Given the description of an element on the screen output the (x, y) to click on. 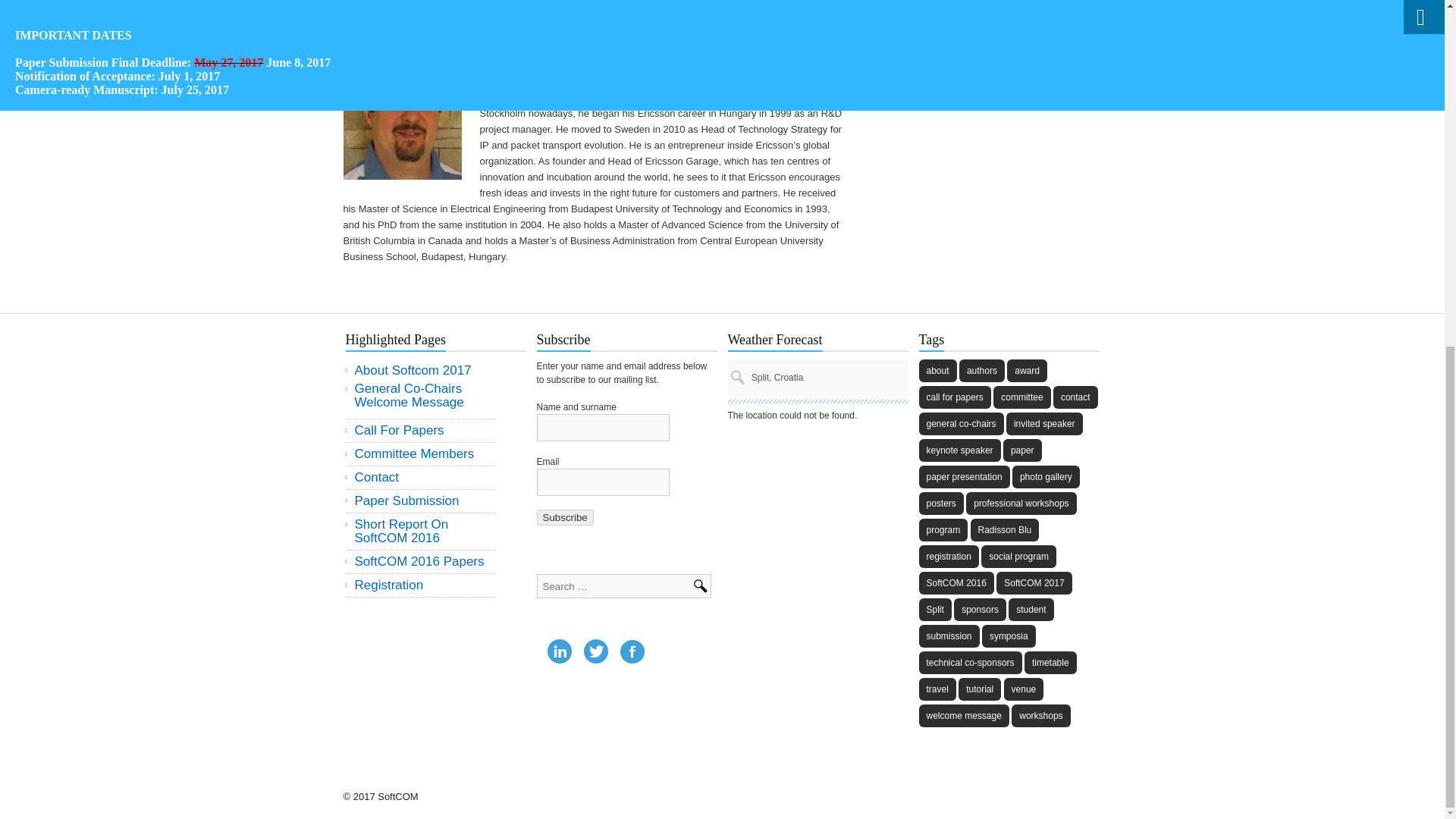
5 topics (1022, 449)
authors (981, 370)
About Softcom 2017 (421, 370)
Short Report On SoftCOM 2016 (421, 531)
7 topics (1044, 423)
1 topic (1045, 477)
award (1026, 370)
Subscribe (565, 517)
1 topic (1020, 396)
SoftCOM 2016 Papers (421, 561)
6 topics (937, 370)
1 topic (964, 477)
Subscribe (565, 517)
Search (703, 588)
Committee Members (421, 454)
